Given the description of an element on the screen output the (x, y) to click on. 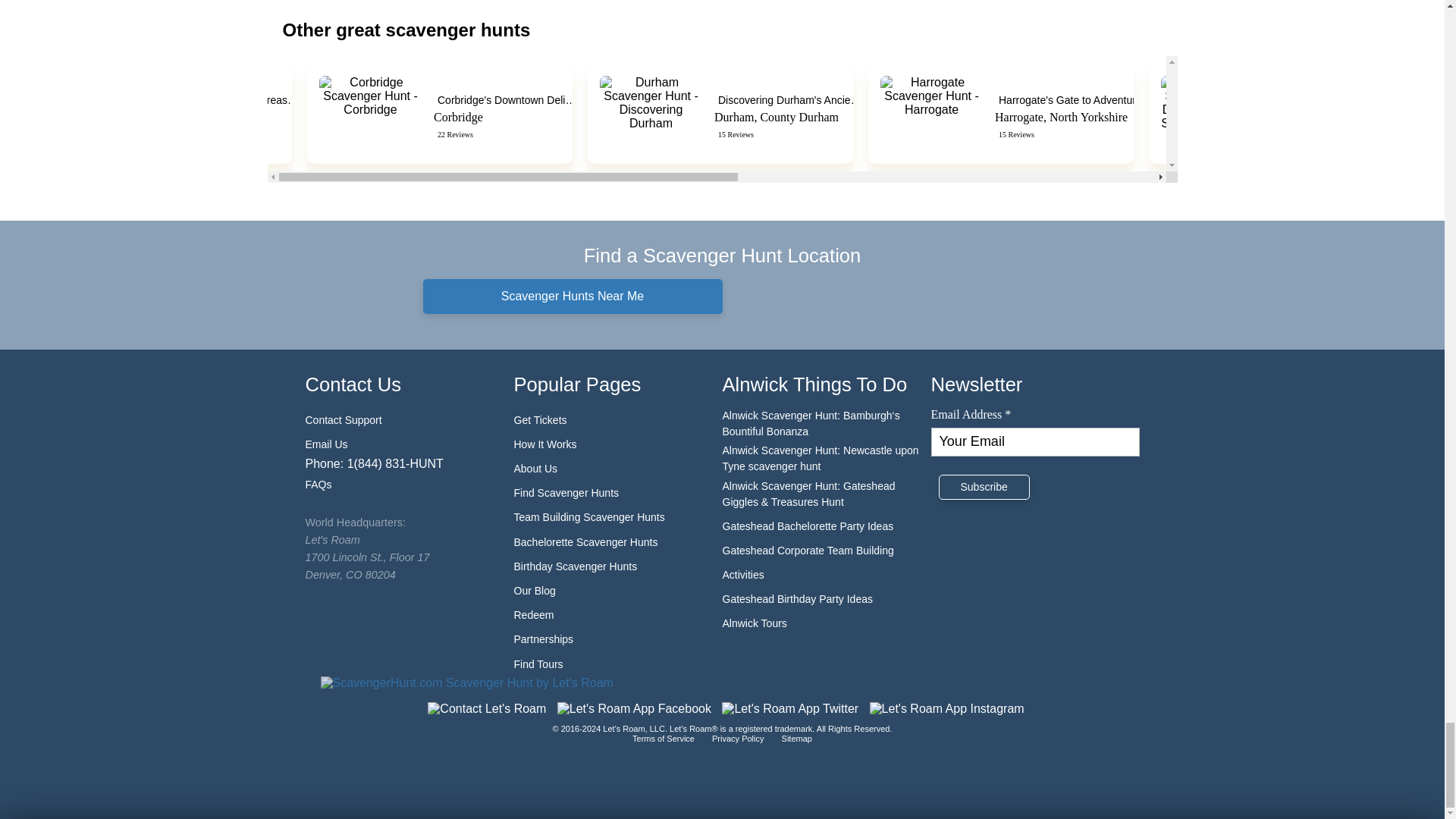
Subscribe (984, 487)
